Given the description of an element on the screen output the (x, y) to click on. 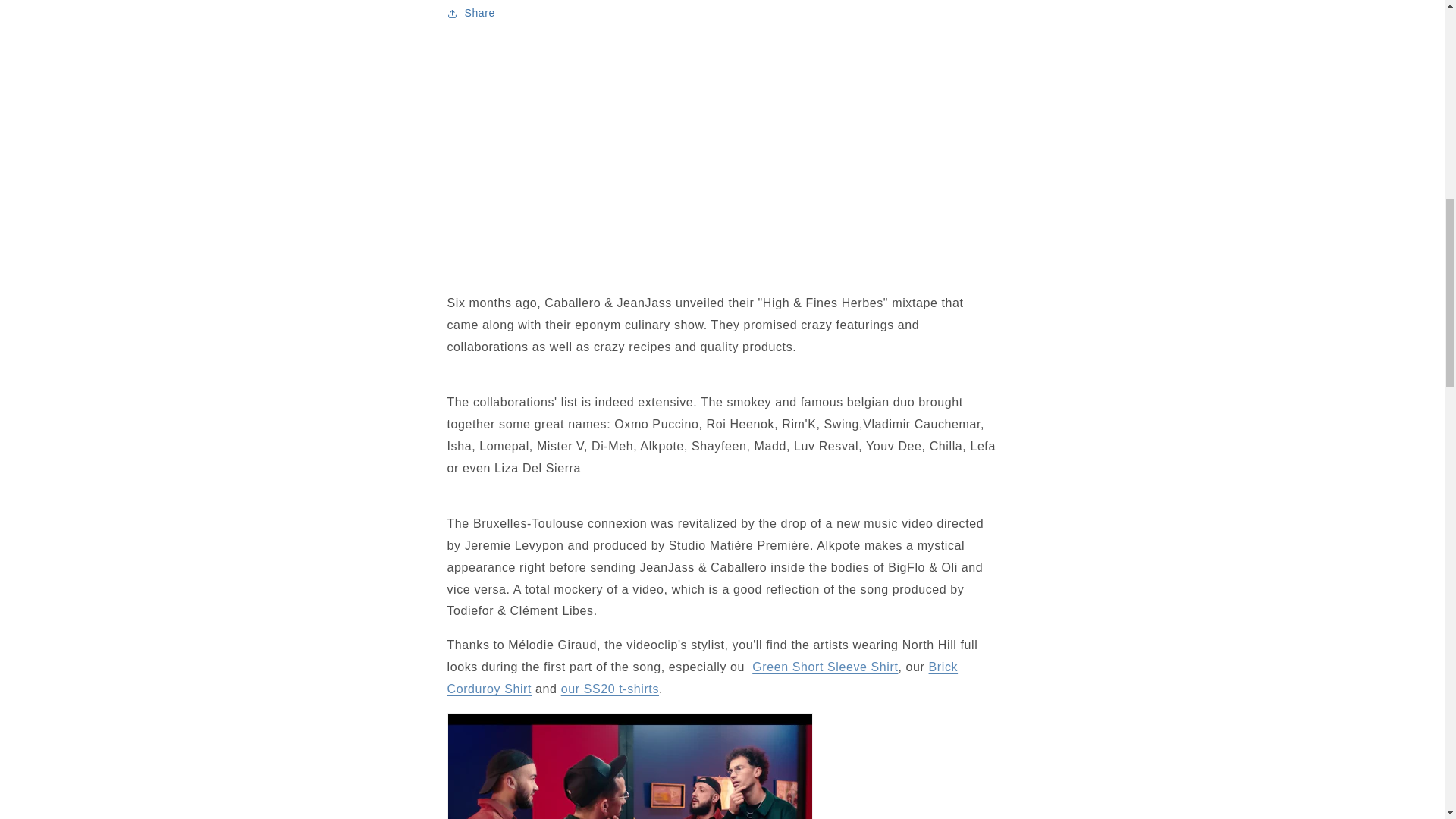
our SS20 t-shirts (609, 688)
Brick Corduroy Shirt (702, 677)
Green Short Sleeve Shirt (825, 666)
T-shirts North Hill (609, 688)
Brick Corduroy Shirt (702, 677)
Green Short Sleeve Shirt (825, 666)
